Given the description of an element on the screen output the (x, y) to click on. 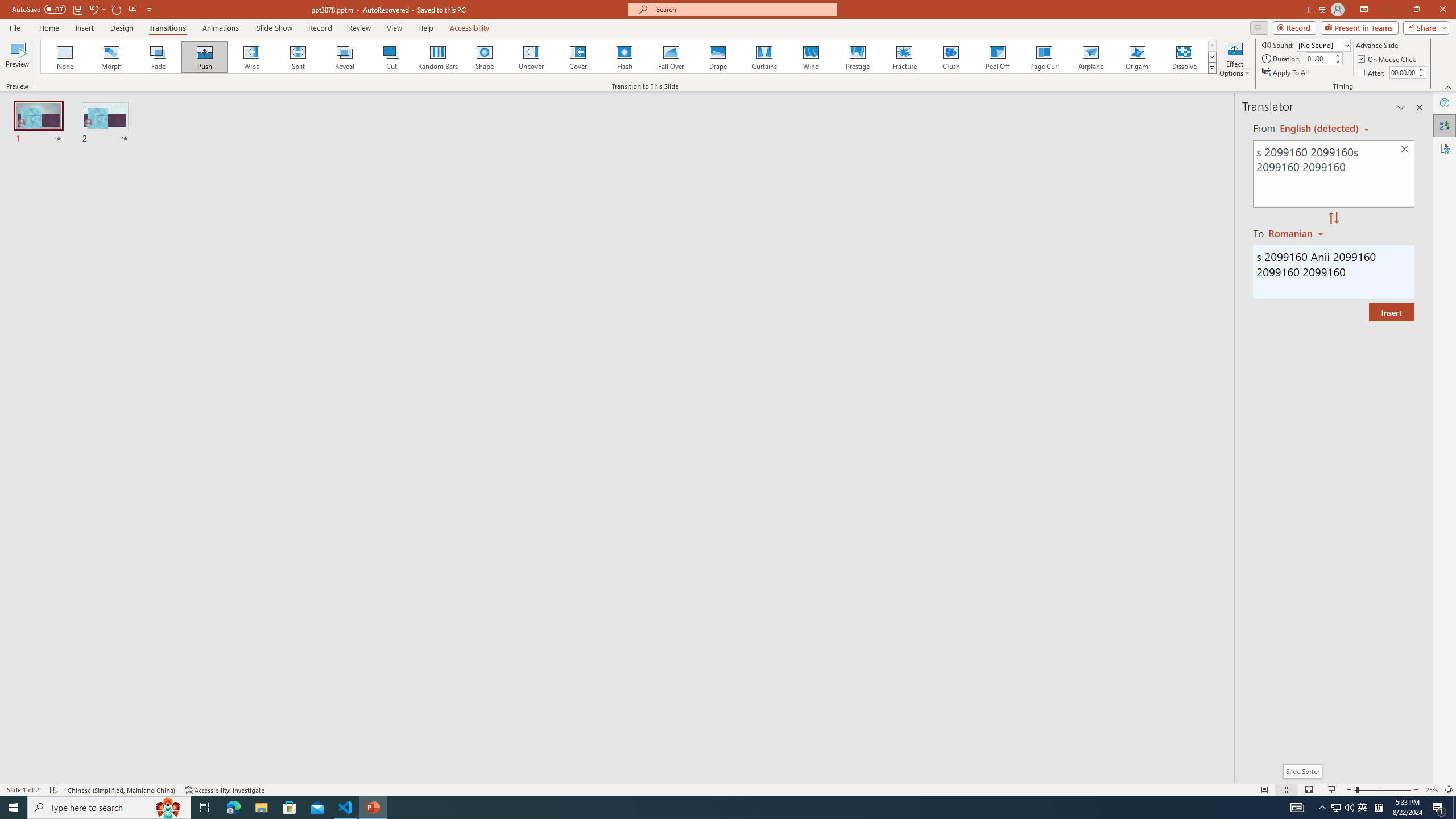
Czech (detected) (1319, 128)
None (65, 56)
After (1403, 72)
Apply To All (1286, 72)
Crush (950, 56)
Cover (577, 56)
Random Bars (437, 56)
Dissolve (1183, 56)
Drape (717, 56)
